Given the description of an element on the screen output the (x, y) to click on. 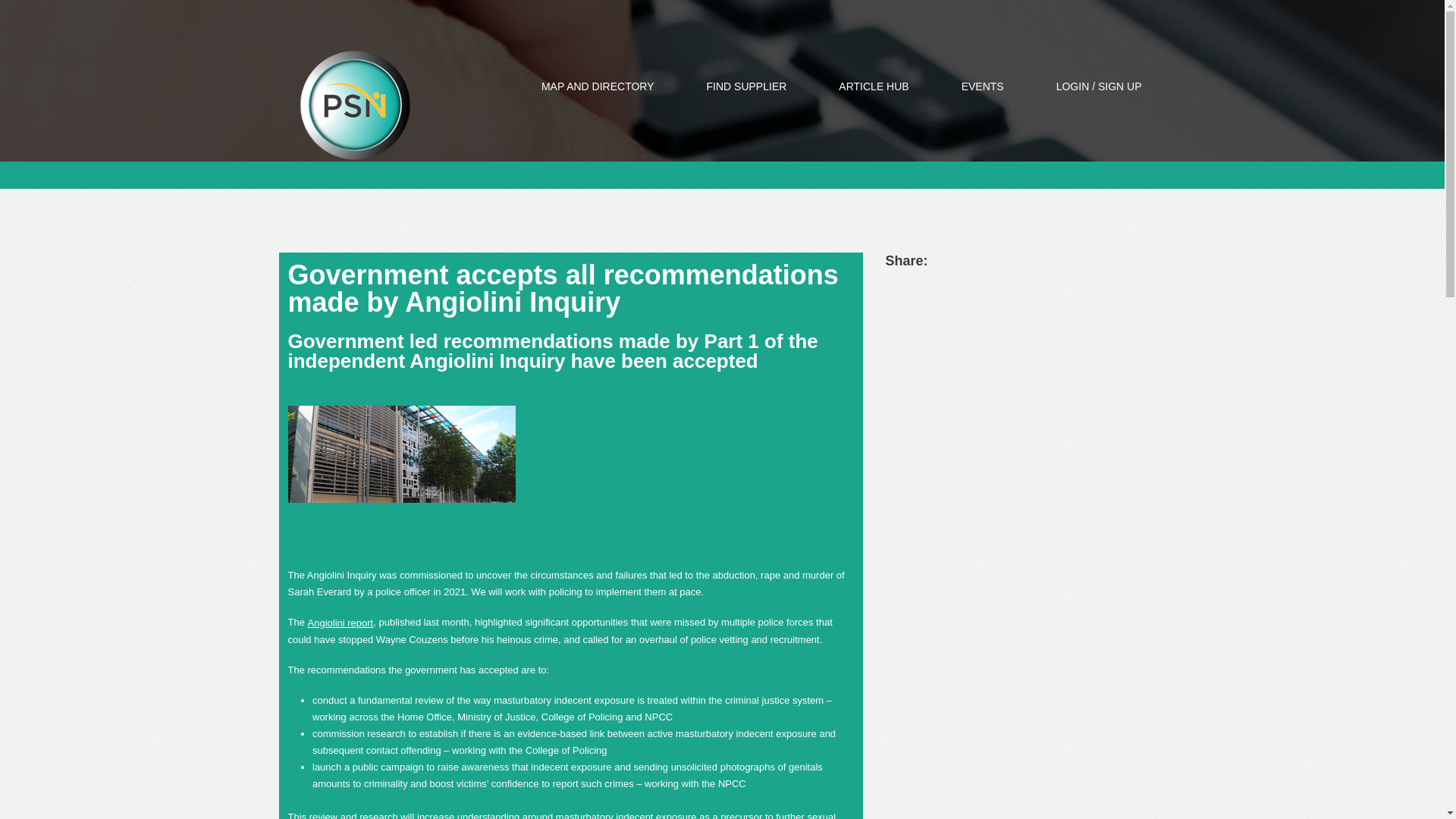
FIND SUPPLIER (746, 85)
Angiolini report (340, 622)
MAP AND DIRECTORY (598, 85)
ARTICLE HUB (873, 85)
EVENTS (982, 85)
